Given the description of an element on the screen output the (x, y) to click on. 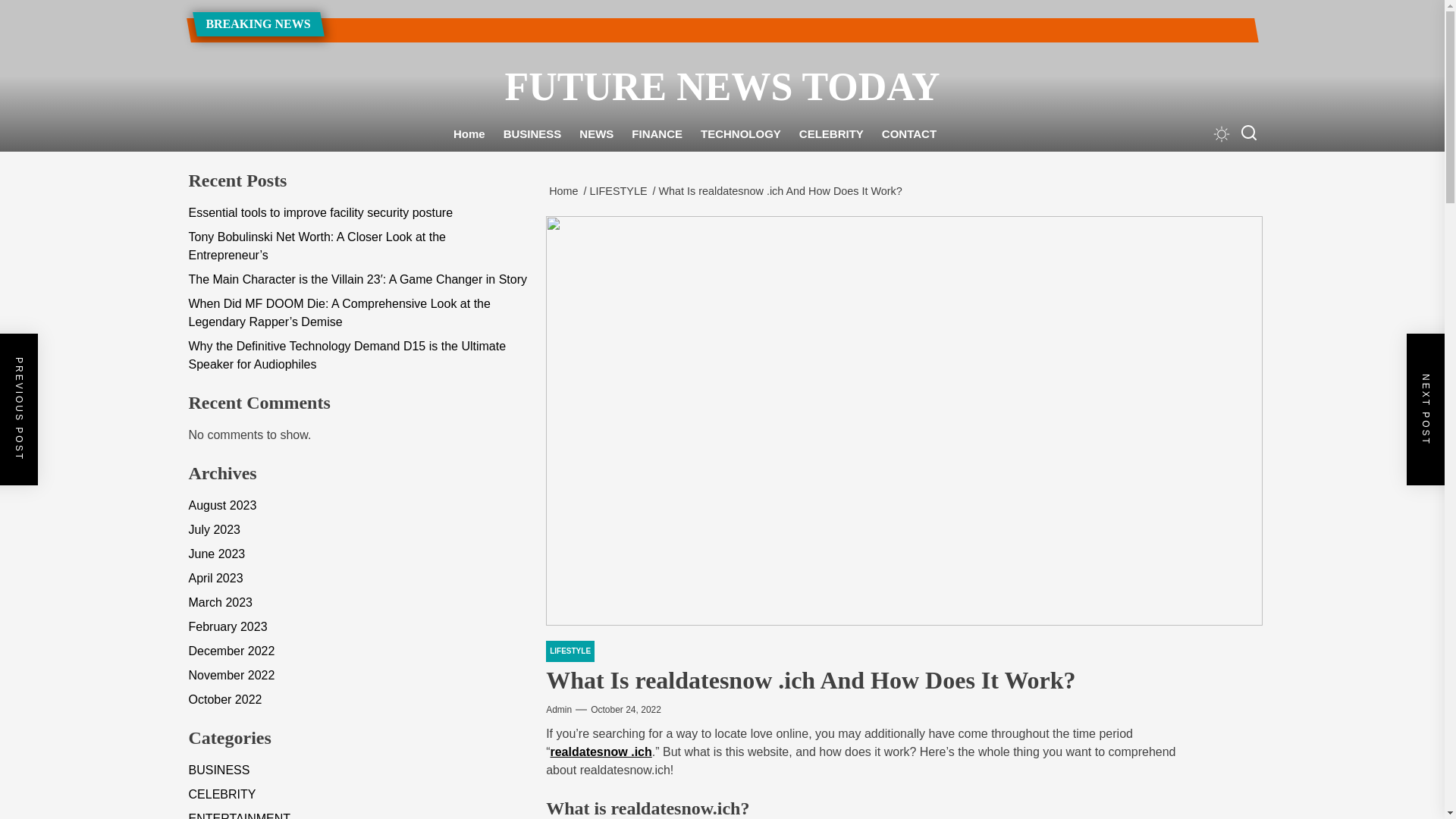
Home (469, 134)
BUSINESS (532, 134)
TECHNOLOGY (740, 134)
FINANCE (657, 134)
LIFESTYLE (570, 650)
NEWS (596, 134)
What Is realdatesnow .ich And How Does It Work? (783, 191)
October 24, 2022 (626, 709)
Home (566, 191)
Admin (559, 709)
